Given the description of an element on the screen output the (x, y) to click on. 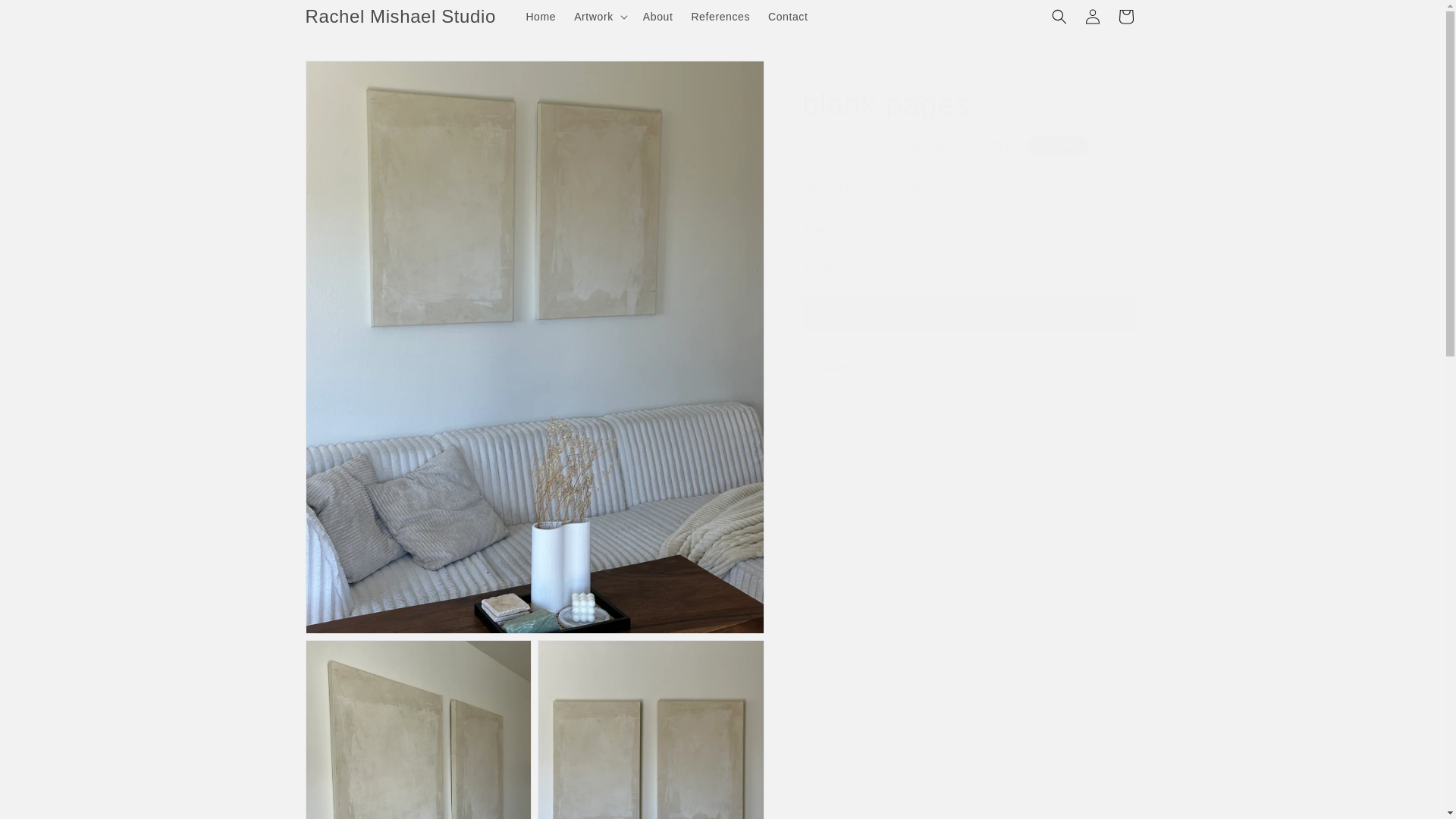
References (719, 16)
About (657, 16)
Skip to content (45, 17)
Skip to product information (350, 77)
Cart (1124, 16)
Log in (1091, 16)
Rachel Mishael Studio (399, 16)
Open media 2 in modal (417, 729)
Open media 3 in modal (650, 729)
Contact (787, 16)
